Given the description of an element on the screen output the (x, y) to click on. 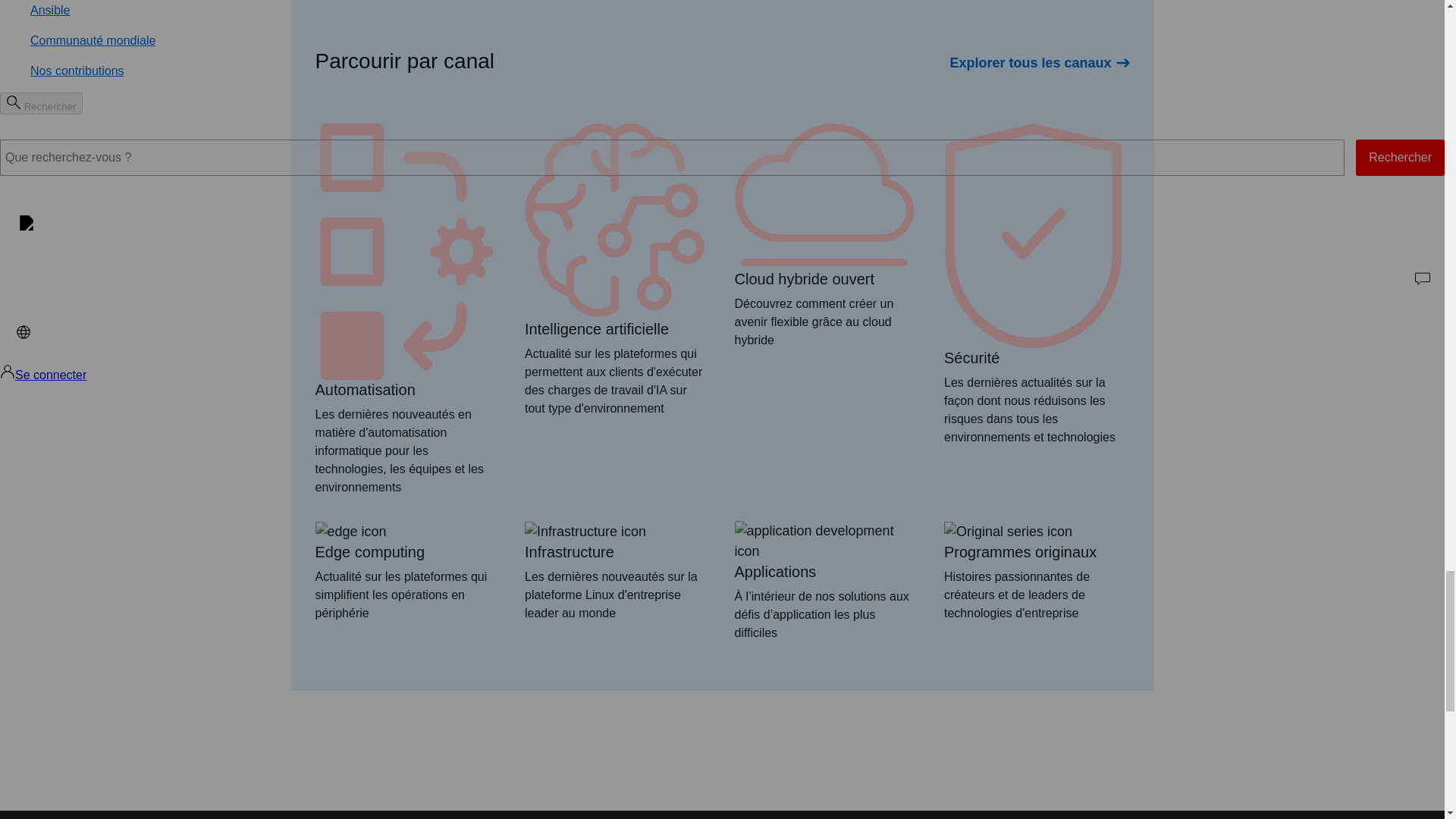
Explorer tous les canaux (1039, 62)
